Given the description of an element on the screen output the (x, y) to click on. 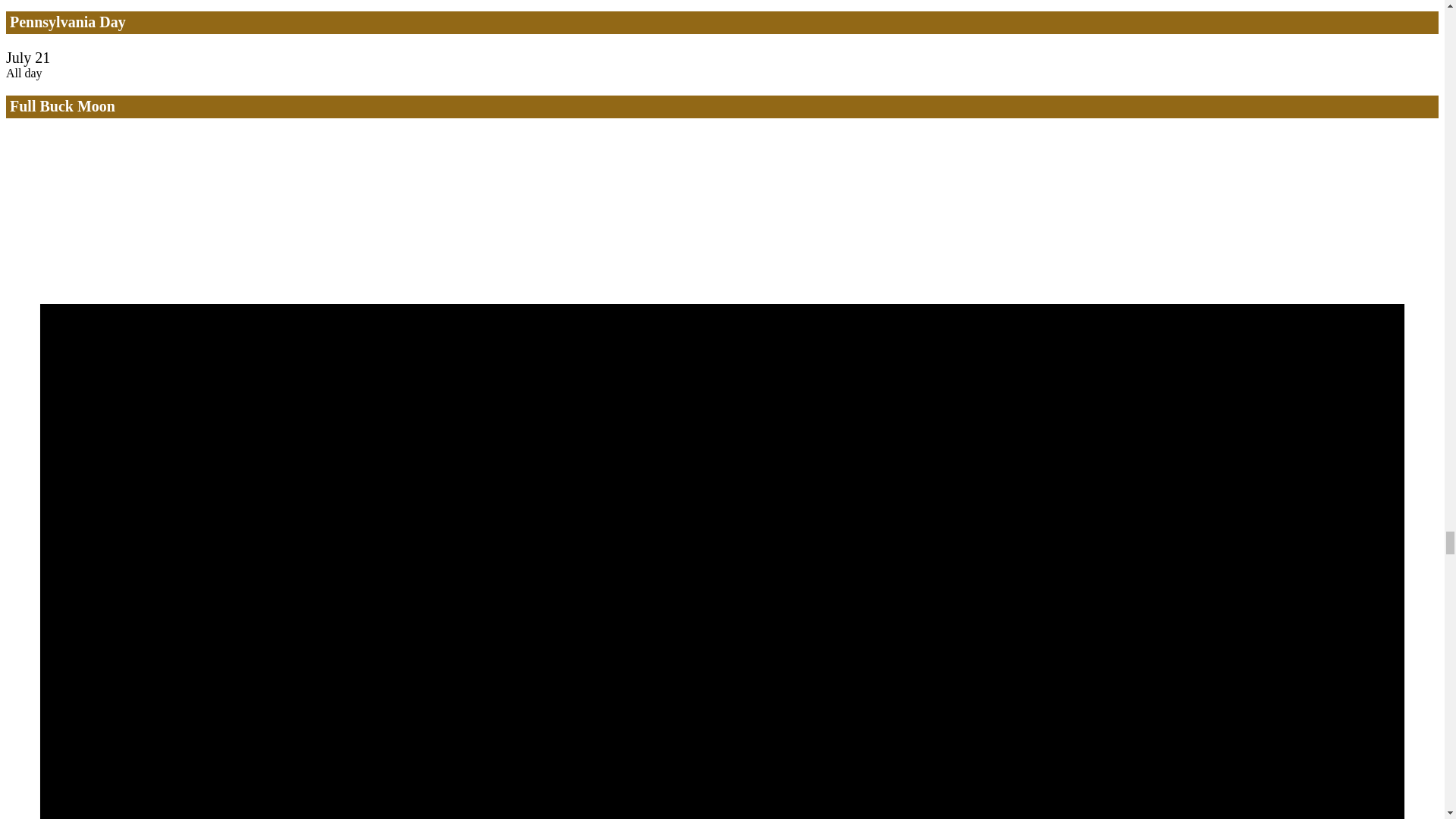
Pennsylvania Day (67, 21)
